Given the description of an element on the screen output the (x, y) to click on. 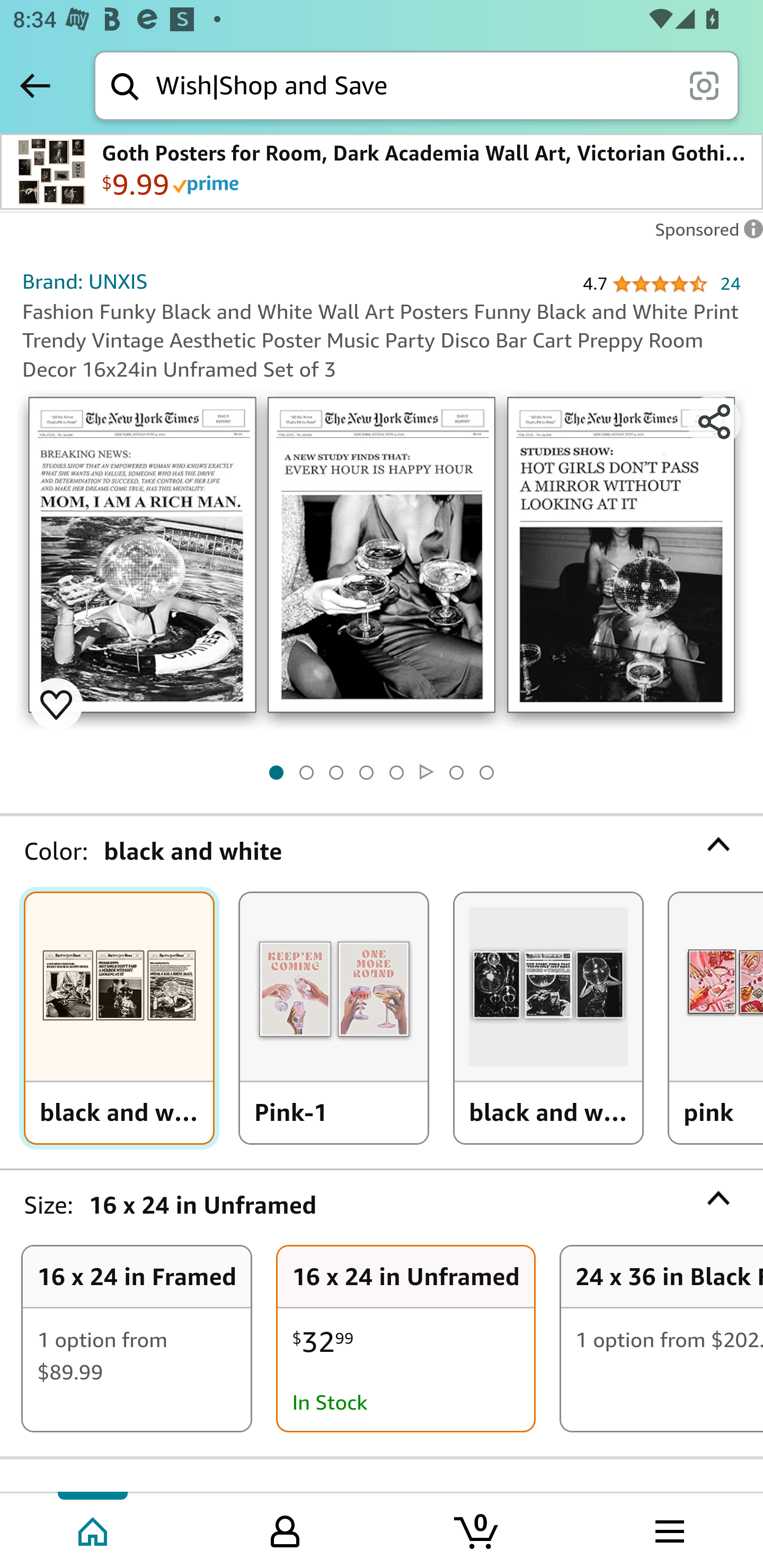
Back (35, 85)
Search Search Wish|Shop and Save scan it (416, 85)
scan it (704, 85)
Leave feedback on Sponsored ad Sponsored  (703, 234)
Brand: UNXIS (85, 281)
Heart to save an item to your default list (56, 703)
black and white (118, 1018)
Pink-1 (333, 1018)
black and white-1 (548, 1018)
pink (716, 1018)
Home Tab 1 of 4 (94, 1529)
Your Amazon.com Tab 2 of 4 (285, 1529)
Cart 0 item Tab 3 of 4 0 (477, 1529)
Browse menu Tab 4 of 4 (668, 1529)
